Given the description of an element on the screen output the (x, y) to click on. 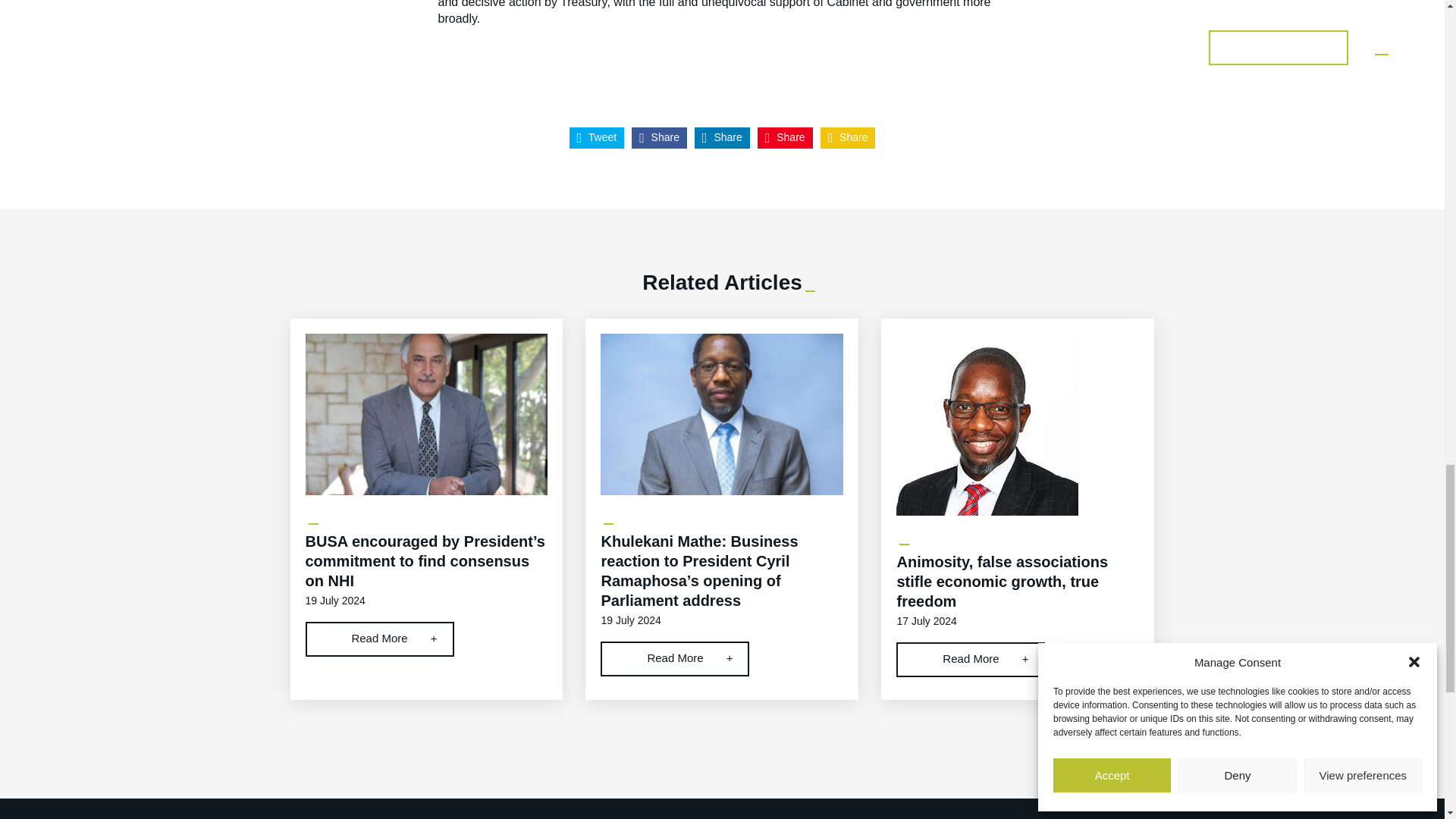
via email (848, 137)
